Given the description of an element on the screen output the (x, y) to click on. 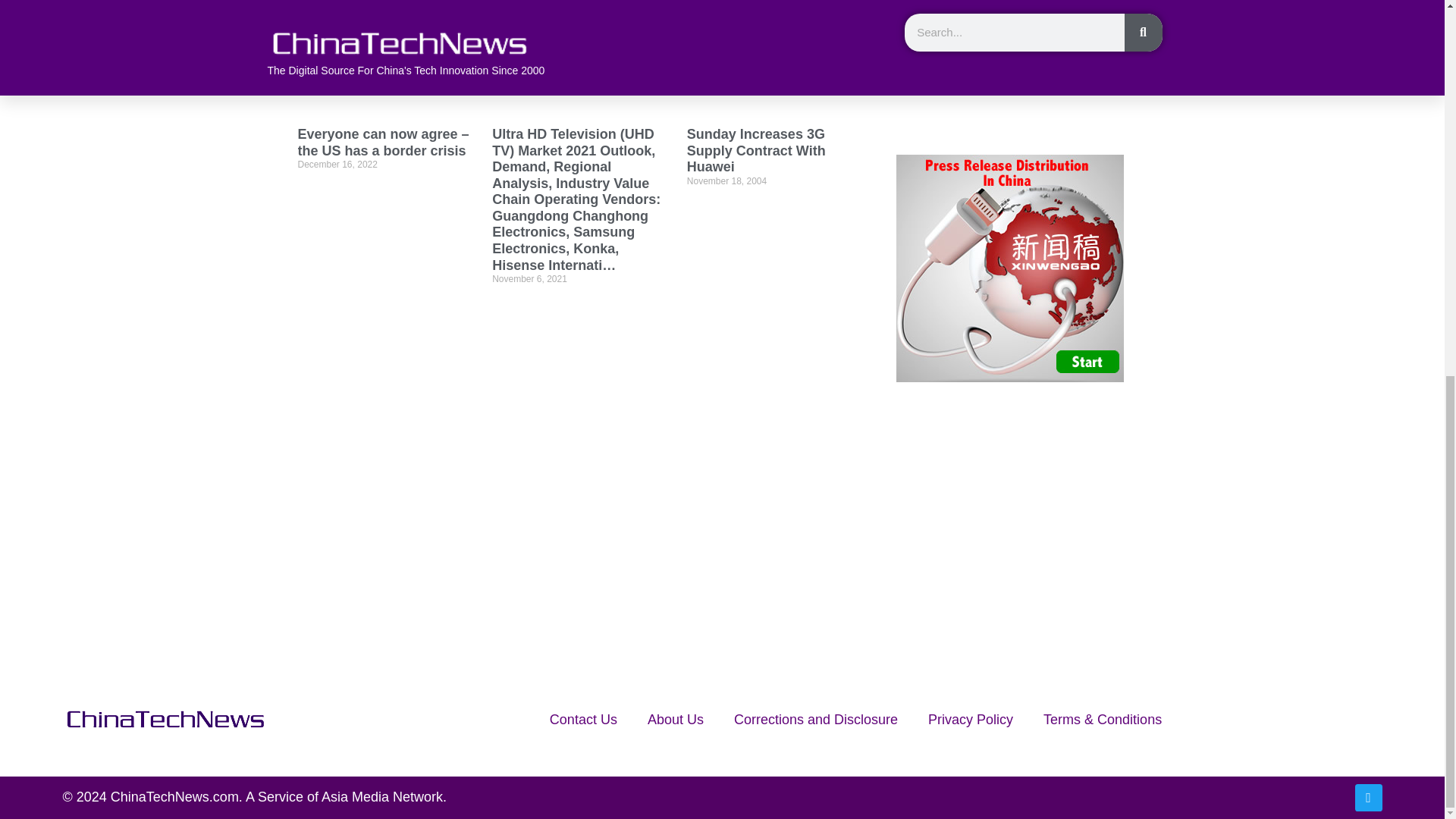
Asia Media Network (381, 796)
Sunday Increases 3G Supply Contract With Huawei (756, 150)
